Given the description of an element on the screen output the (x, y) to click on. 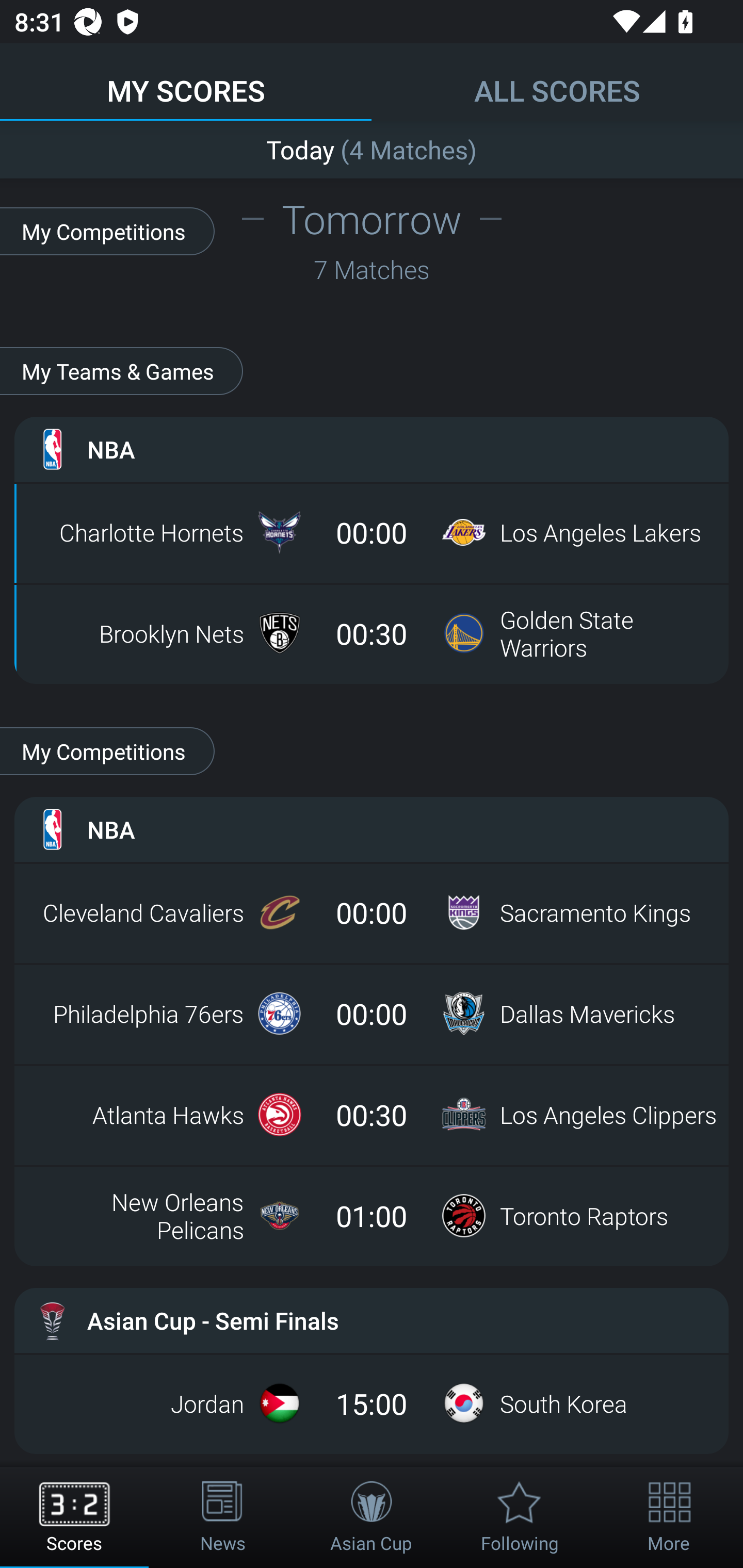
MY SCORES (185, 81)
ALL SCORES (557, 81)
NBA (371, 449)
Charlotte Hornets 00:00 Los Angeles Lakers (371, 532)
Brooklyn Nets 00:30 Golden State Warriors (371, 633)
NBA (371, 829)
Cleveland Cavaliers 00:00 Sacramento Kings (371, 912)
Philadelphia 76ers 00:00 Dallas Mavericks (371, 1013)
Atlanta Hawks 00:30 Los Angeles Clippers (371, 1114)
New Orleans Pelicans 01:00 Toronto Raptors (371, 1215)
Asian Cup - Semi Finals (371, 1320)
Jordan 15:00 South Korea (371, 1403)
News (222, 1517)
Asian Cup (371, 1517)
Following (519, 1517)
More (668, 1517)
